Given the description of an element on the screen output the (x, y) to click on. 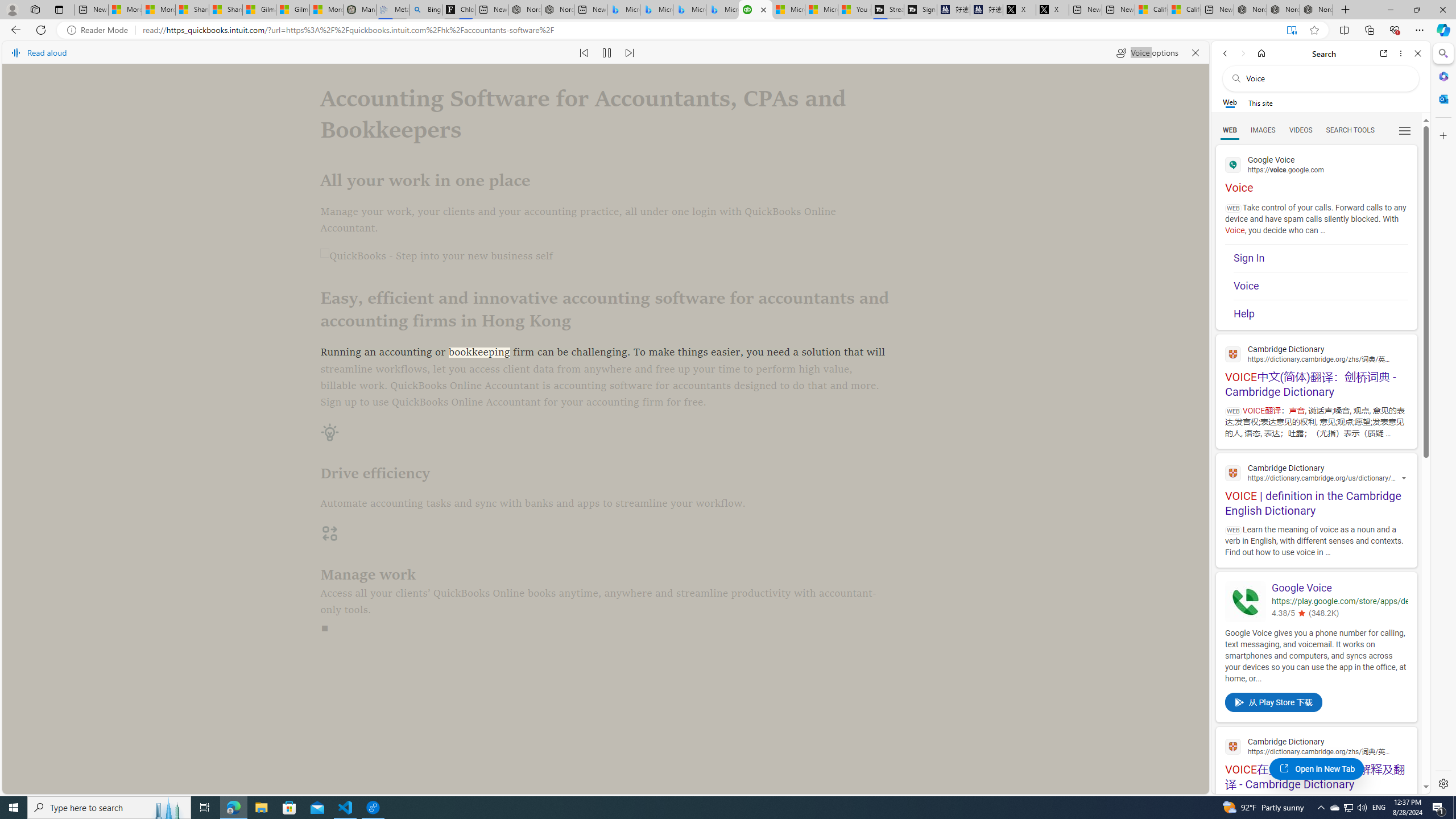
Preferences (1403, 129)
WEB   (1230, 130)
Actions for this site (1404, 478)
Voice (1320, 286)
Open link in new tab (1383, 53)
Customize (1442, 135)
Sign In (1320, 258)
Help (1320, 314)
Voice (1320, 286)
